Given the description of an element on the screen output the (x, y) to click on. 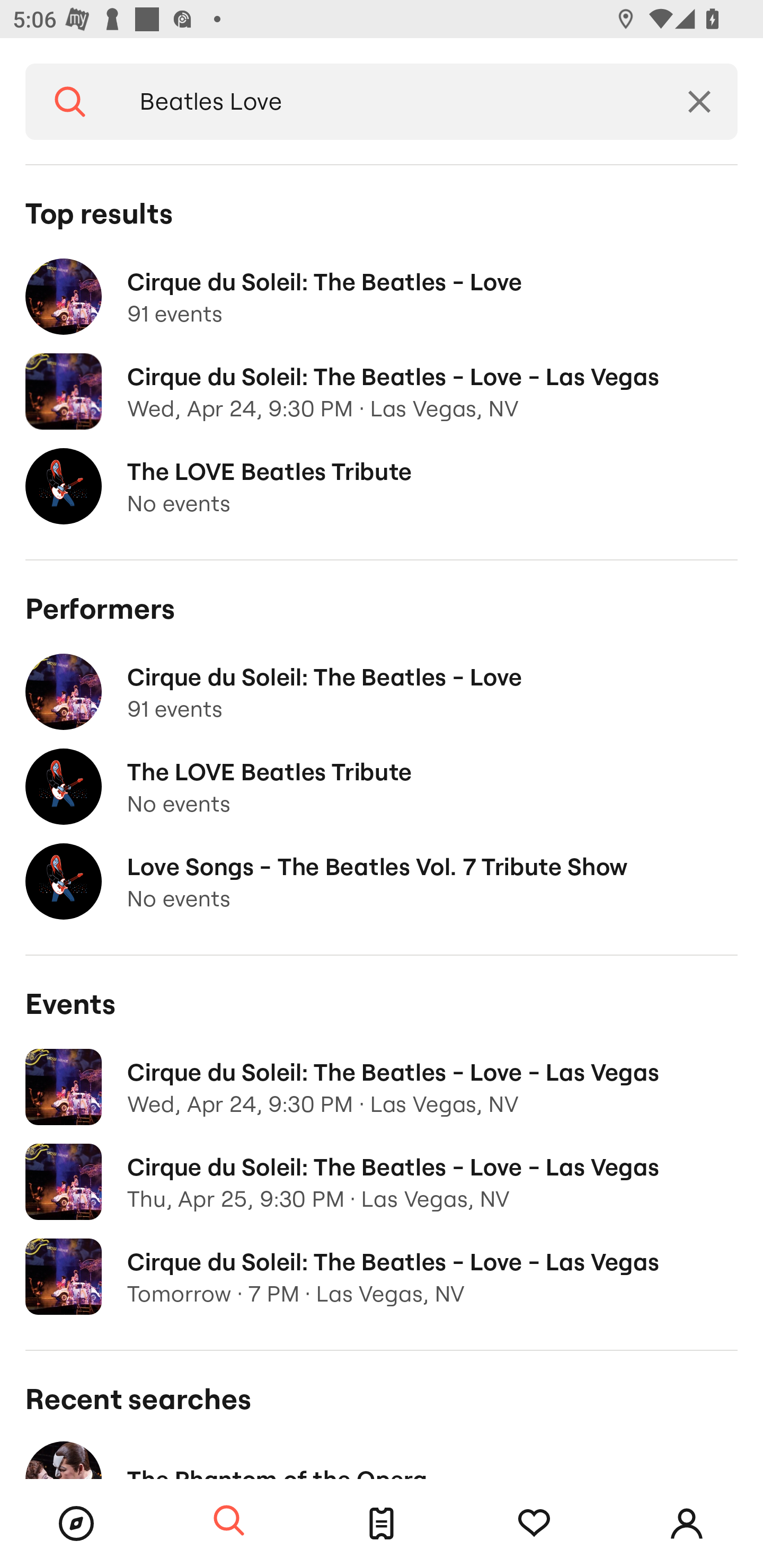
Search (69, 101)
Beatles Love (387, 101)
Clear (699, 101)
Cirque du Soleil: The Beatles - Love 91 events (381, 296)
The LOVE Beatles Tribute No events (381, 486)
Cirque du Soleil: The Beatles - Love 91 events (381, 692)
The LOVE Beatles Tribute No events (381, 787)
Browse (76, 1523)
Search (228, 1521)
Tickets (381, 1523)
Tracking (533, 1523)
Account (686, 1523)
